Given the description of an element on the screen output the (x, y) to click on. 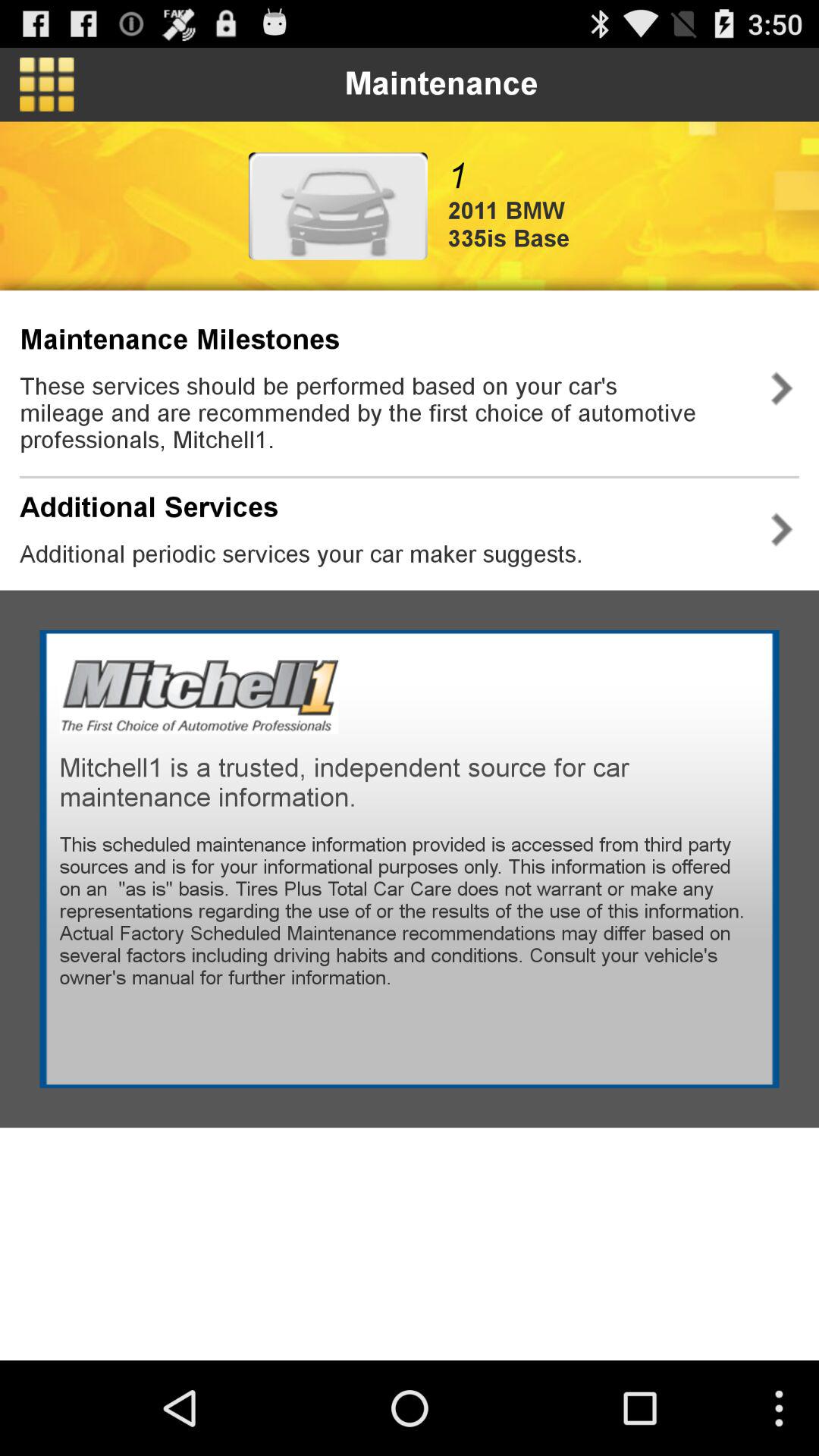
turn off icon above the maintenance milestones item (46, 84)
